Given the description of an element on the screen output the (x, y) to click on. 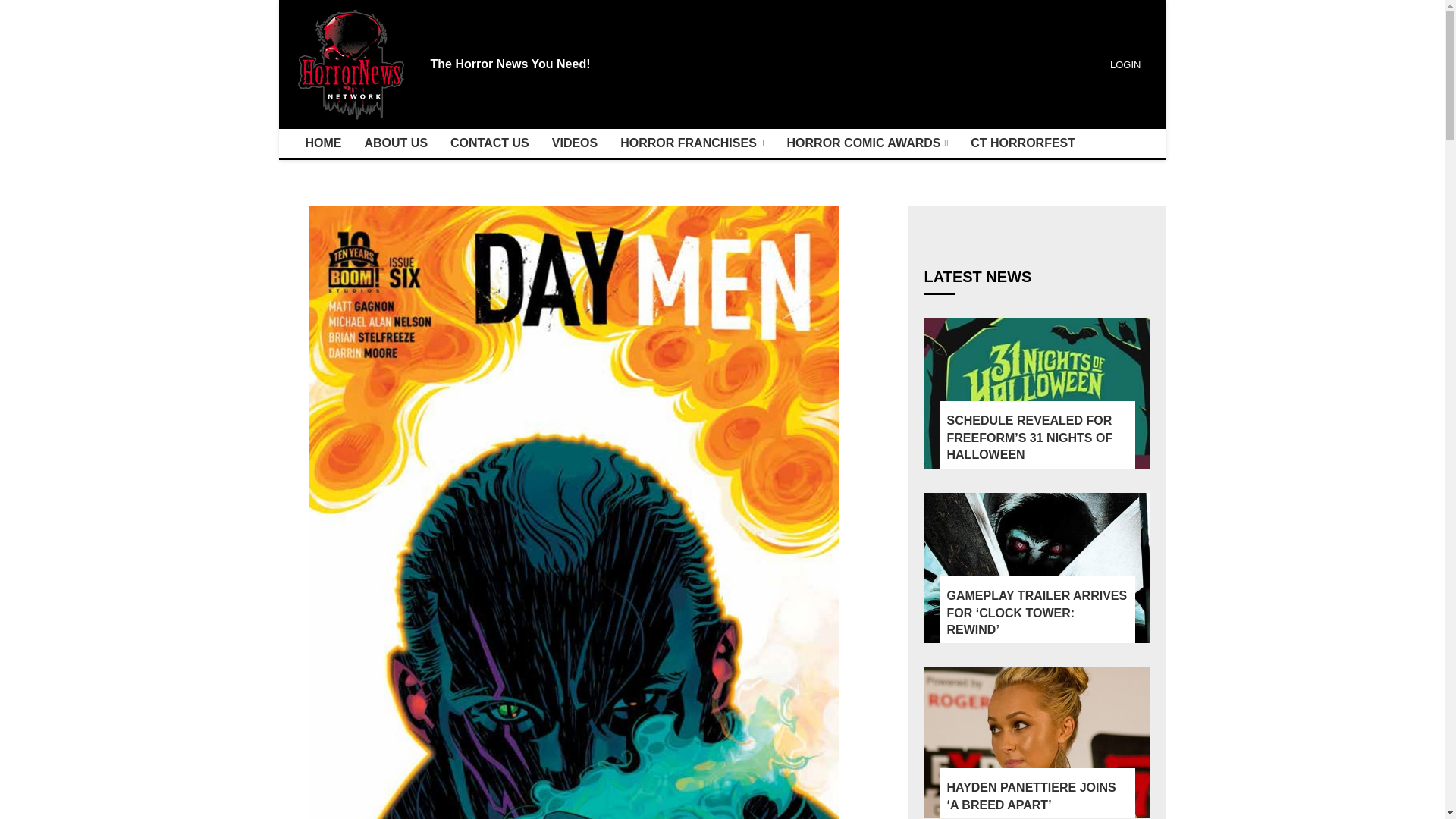
HORROR FRANCHISES (691, 143)
HOME (323, 143)
CONTACT US (489, 143)
LOGIN (1123, 64)
The Horror News You Need! (510, 63)
VIDEOS (574, 143)
ABOUT US (396, 143)
